Given the description of an element on the screen output the (x, y) to click on. 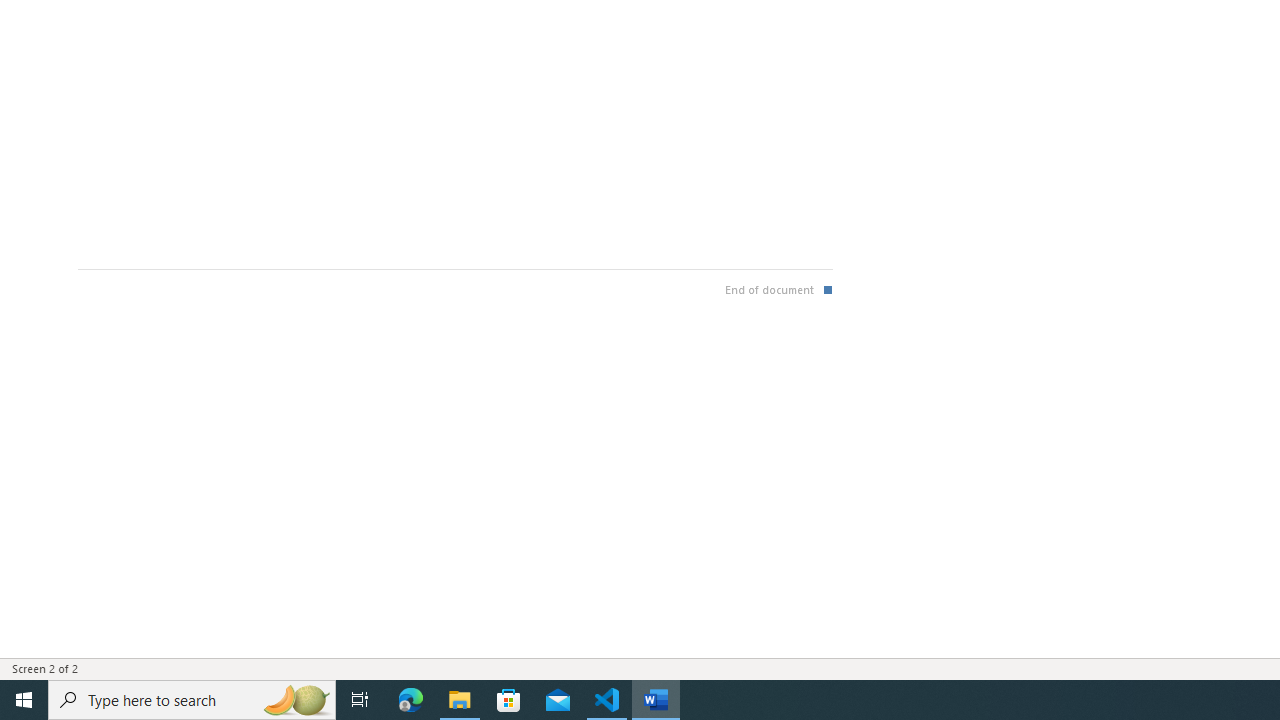
Page Number Screen 2 of 2  (52, 668)
